Given the description of an element on the screen output the (x, y) to click on. 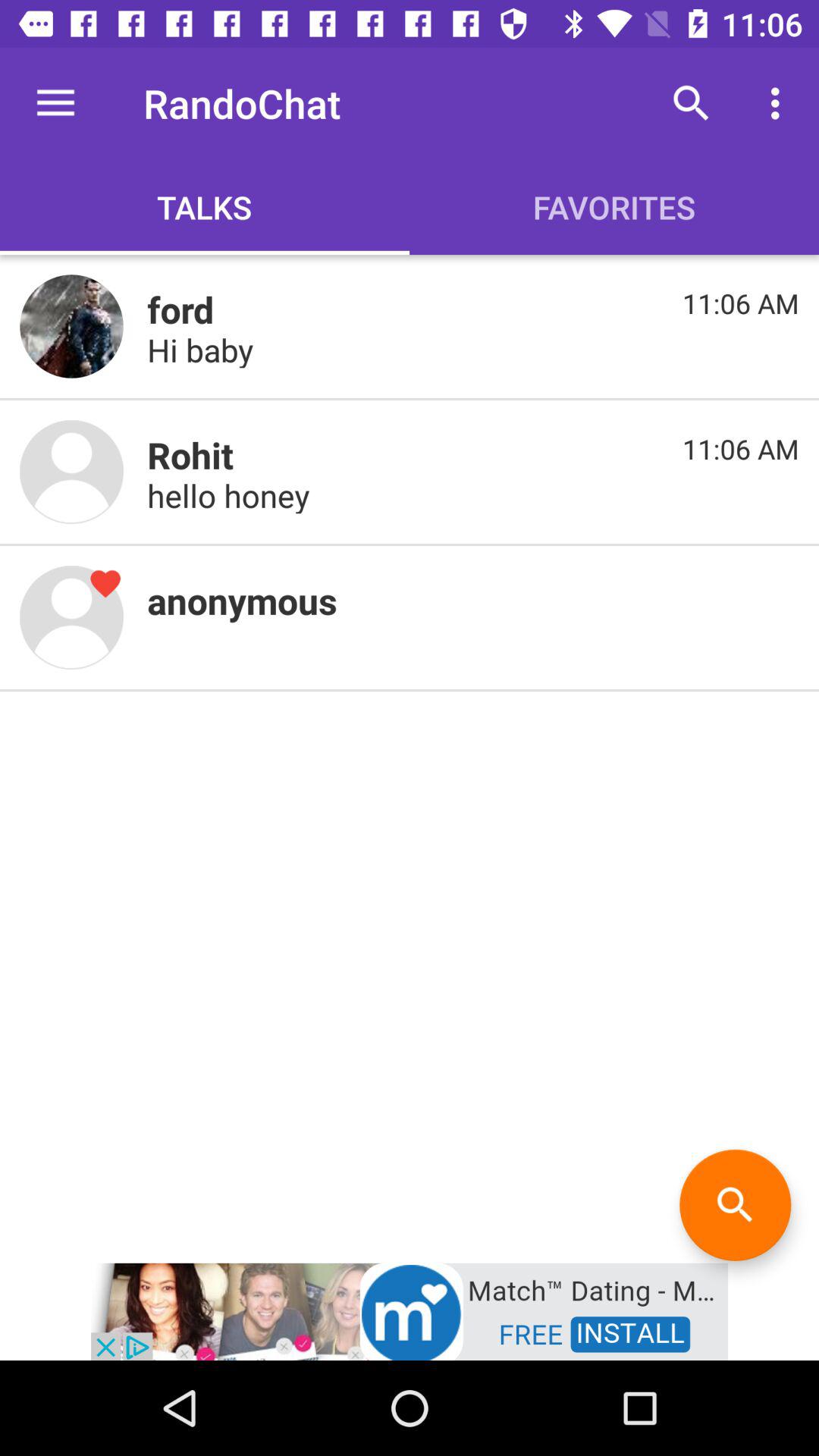
open profile image (71, 617)
